Given the description of an element on the screen output the (x, y) to click on. 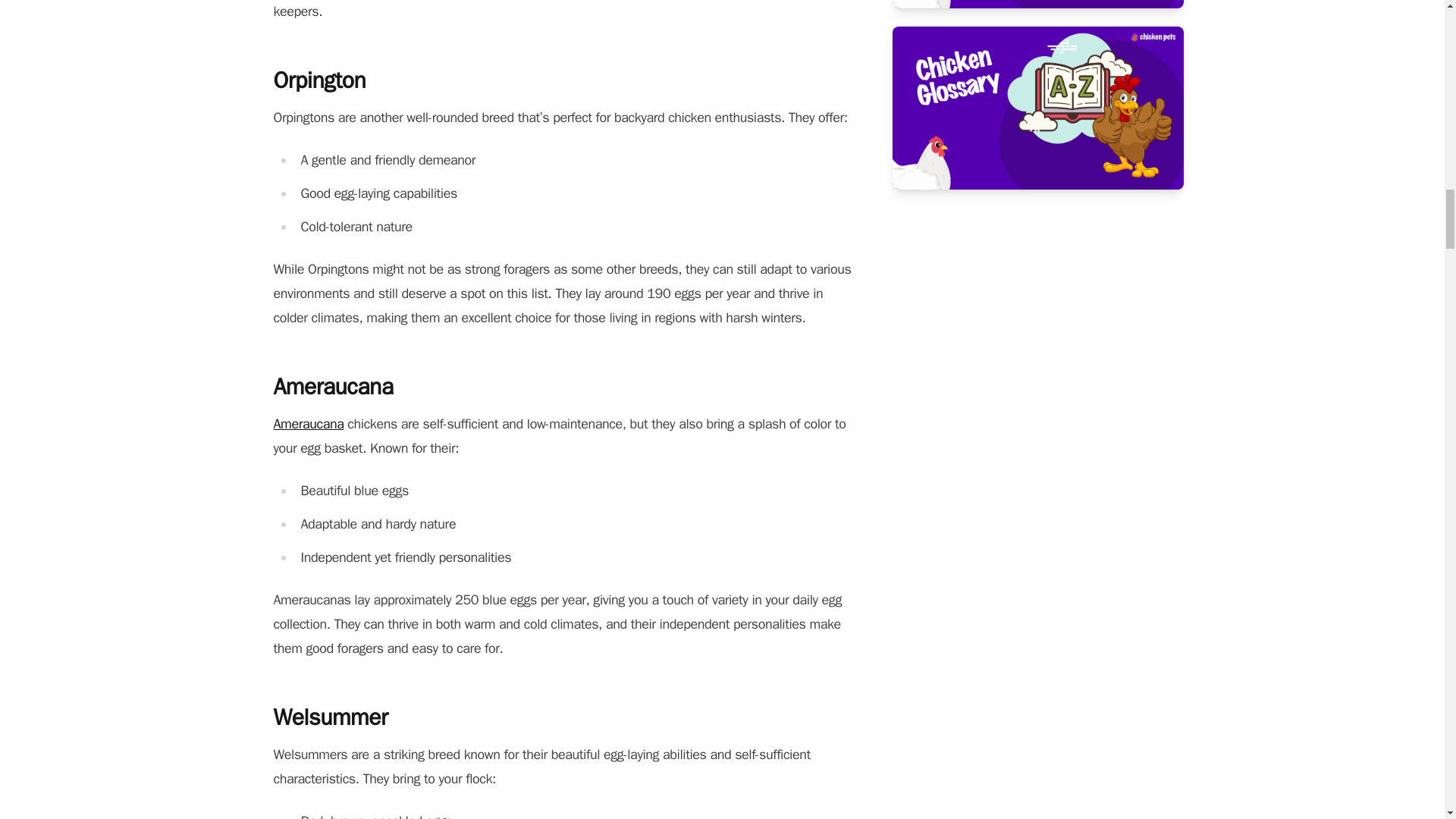
Ameraucana (308, 423)
Ameraucana (308, 423)
